Given the description of an element on the screen output the (x, y) to click on. 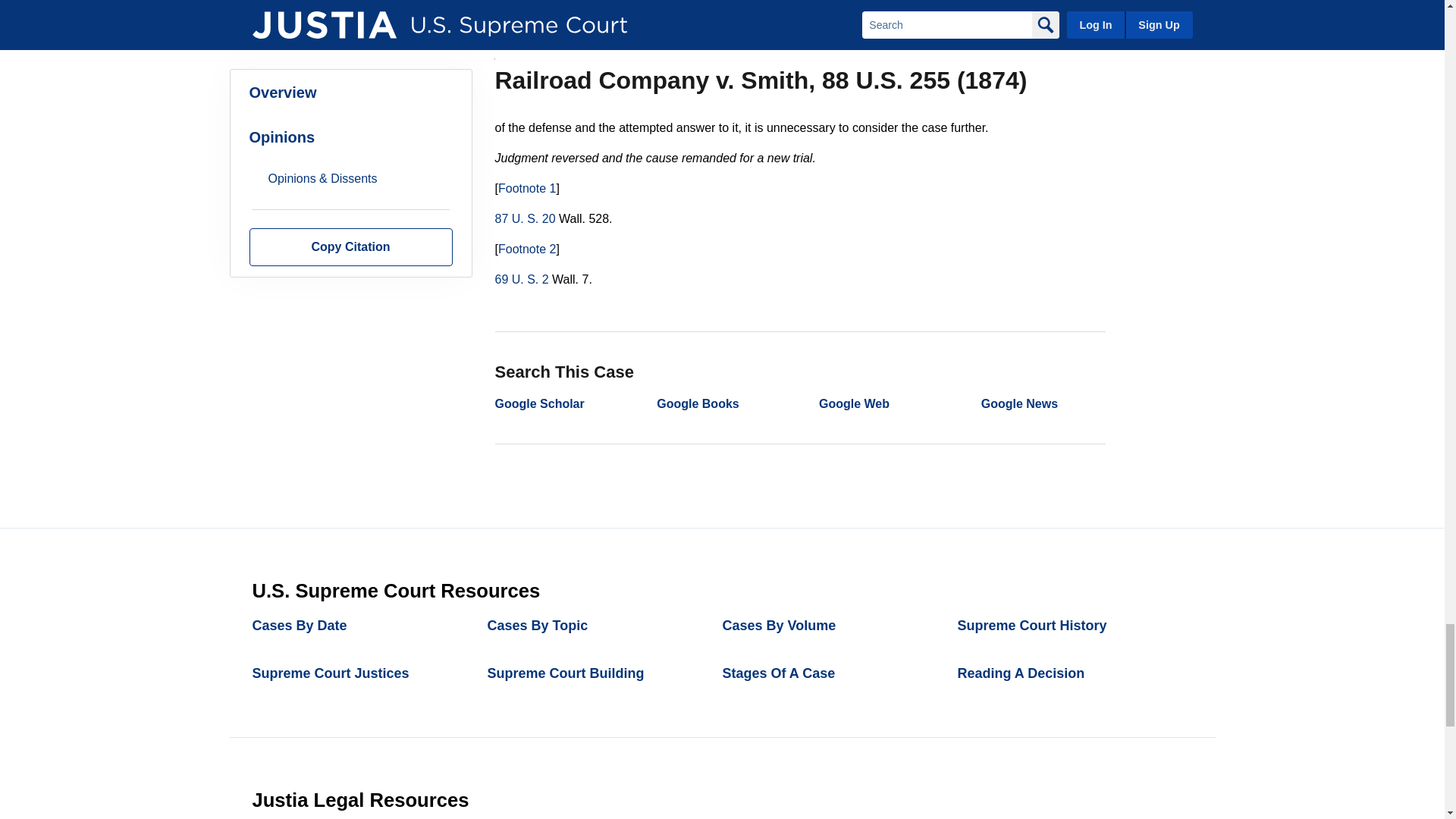
Law - Google Books (697, 403)
Law - Google Scholar (539, 403)
Law - Google Web (853, 403)
Law - Google News (1019, 403)
